Given the description of an element on the screen output the (x, y) to click on. 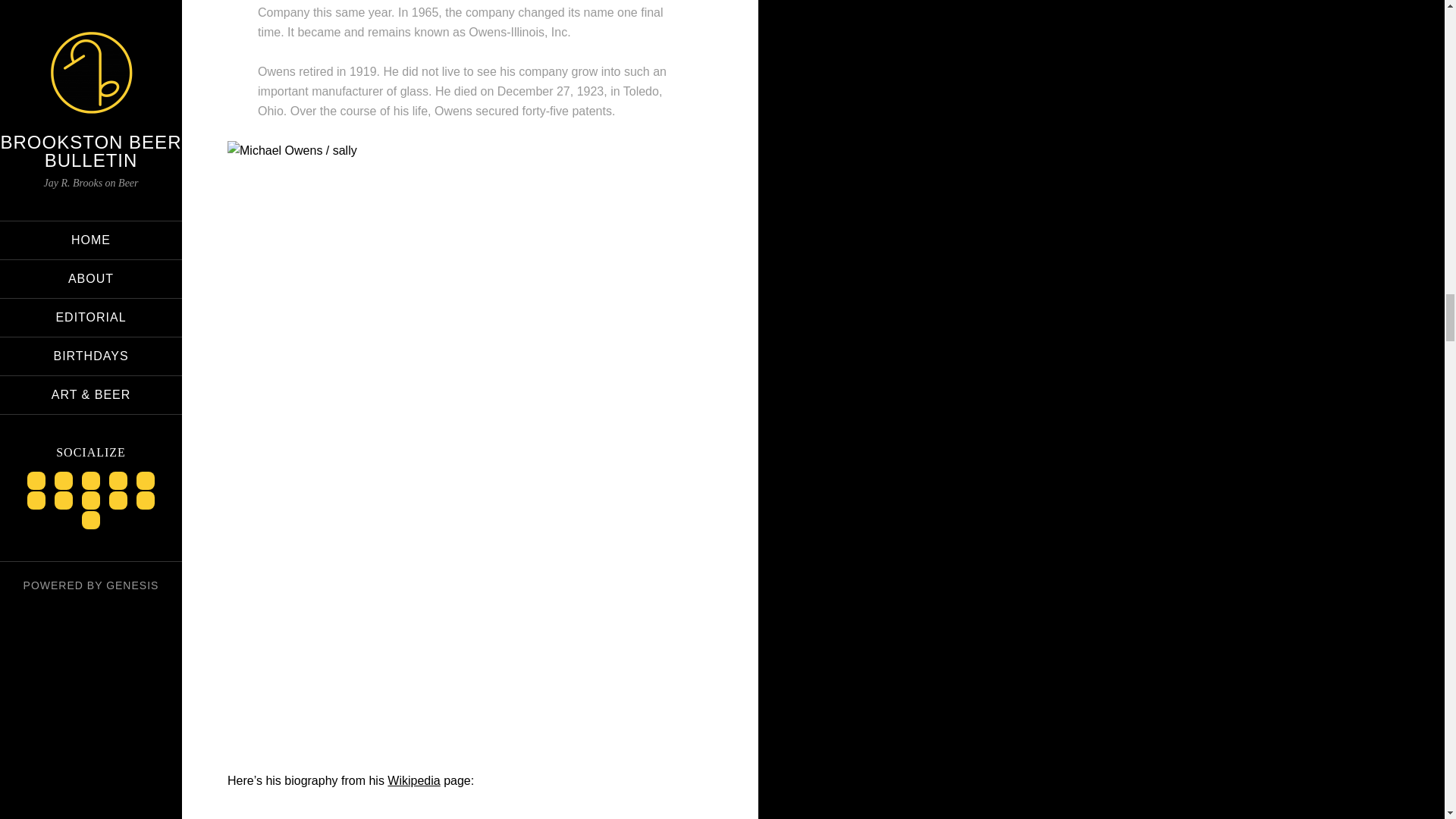
Wikipedia (413, 780)
